Given the description of an element on the screen output the (x, y) to click on. 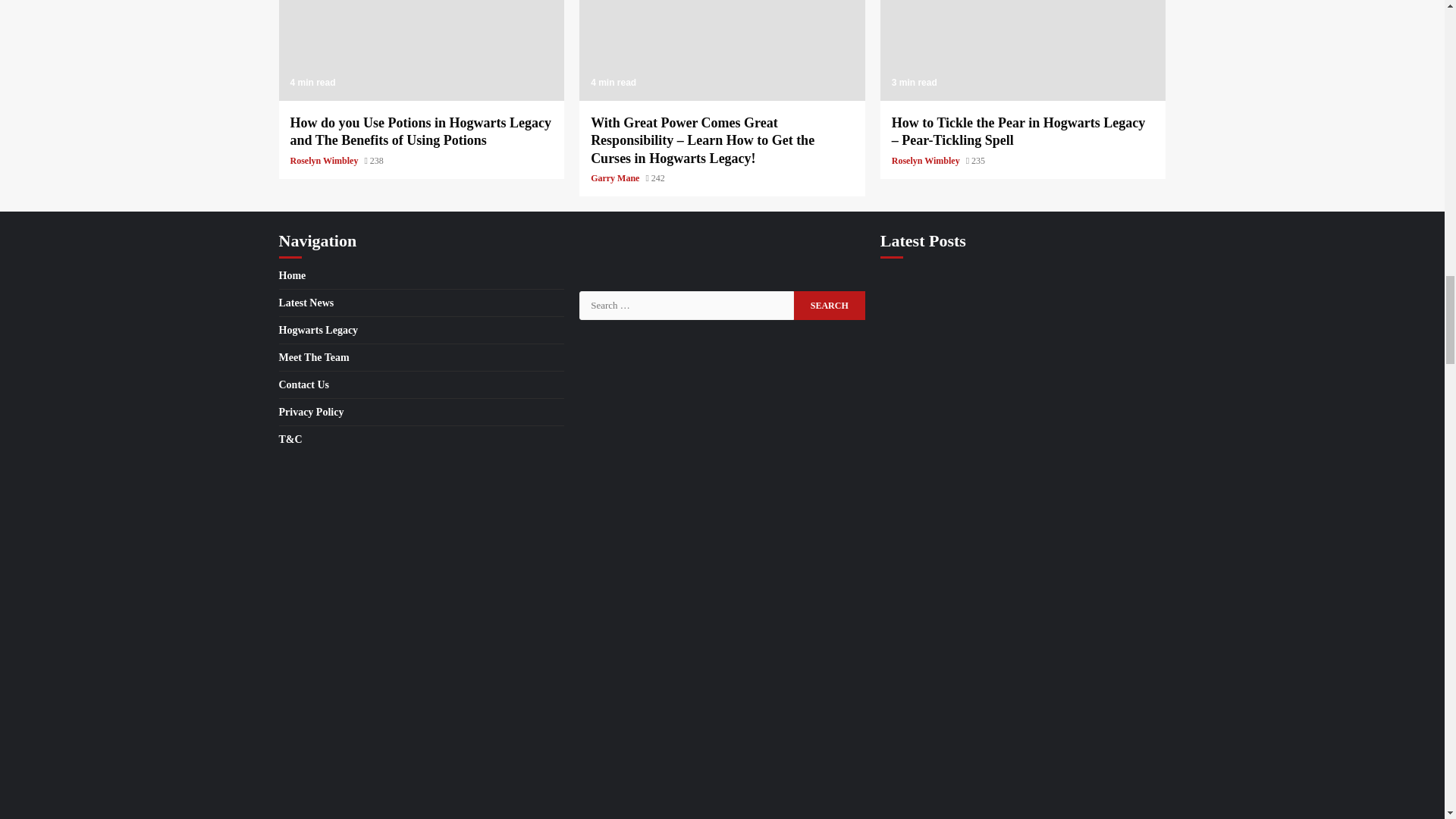
Search (828, 305)
Search (828, 305)
Roselyn Wimbley (324, 160)
238 (373, 161)
